Given the description of an element on the screen output the (x, y) to click on. 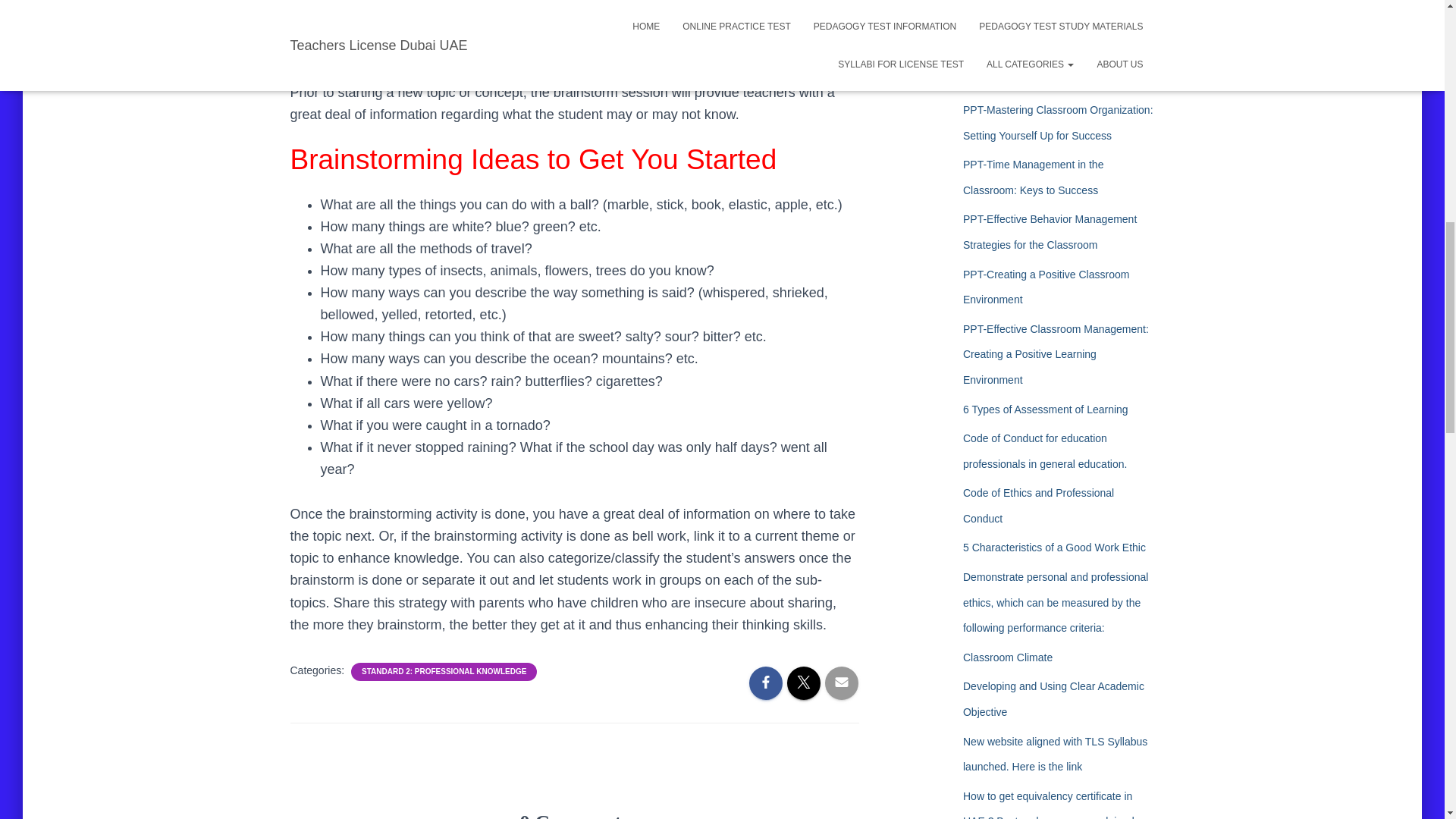
PPT-The 6 Thinking Hats: A Tool for Better Decision Making (1046, 16)
PPT-Time Management in the Classroom: Keys to Success (1032, 177)
STANDARD 2: PROFESSIONAL KNOWLEDGE (443, 671)
